Given the description of an element on the screen output the (x, y) to click on. 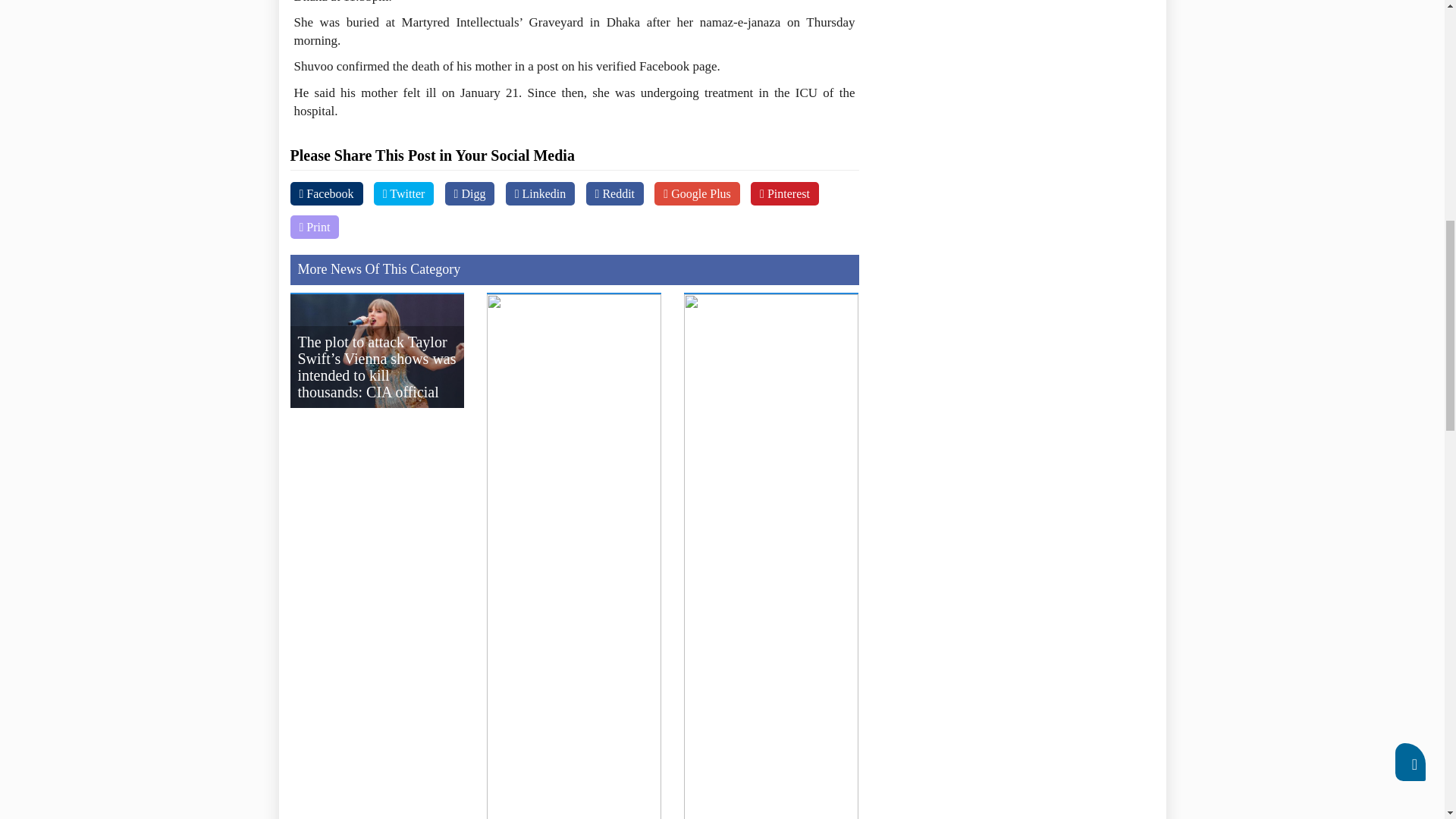
Digg (470, 193)
Facebook (325, 193)
Linkedin (540, 193)
Twitter (403, 193)
